Given the description of an element on the screen output the (x, y) to click on. 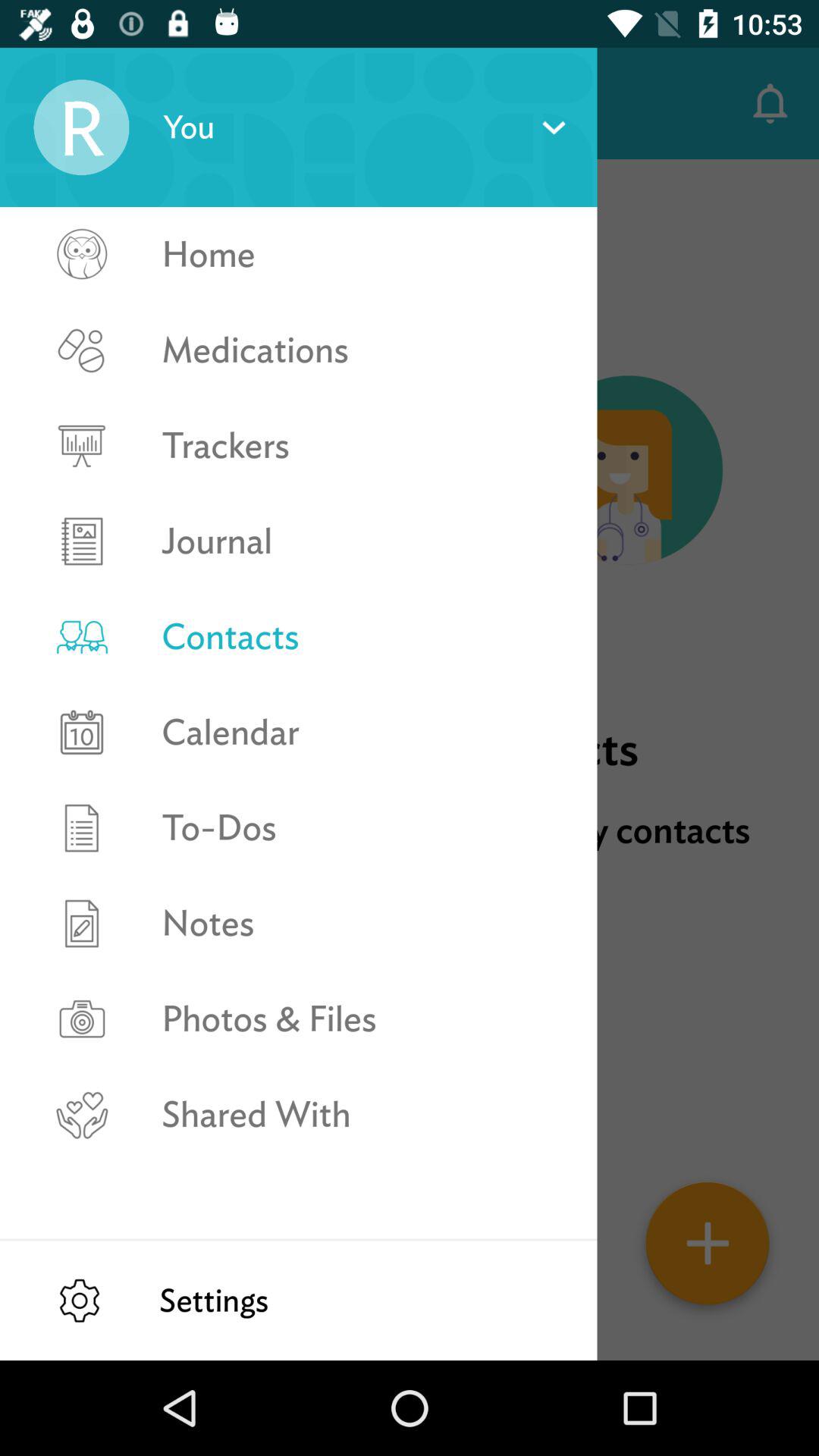
choose the calendar (363, 731)
